Given the description of an element on the screen output the (x, y) to click on. 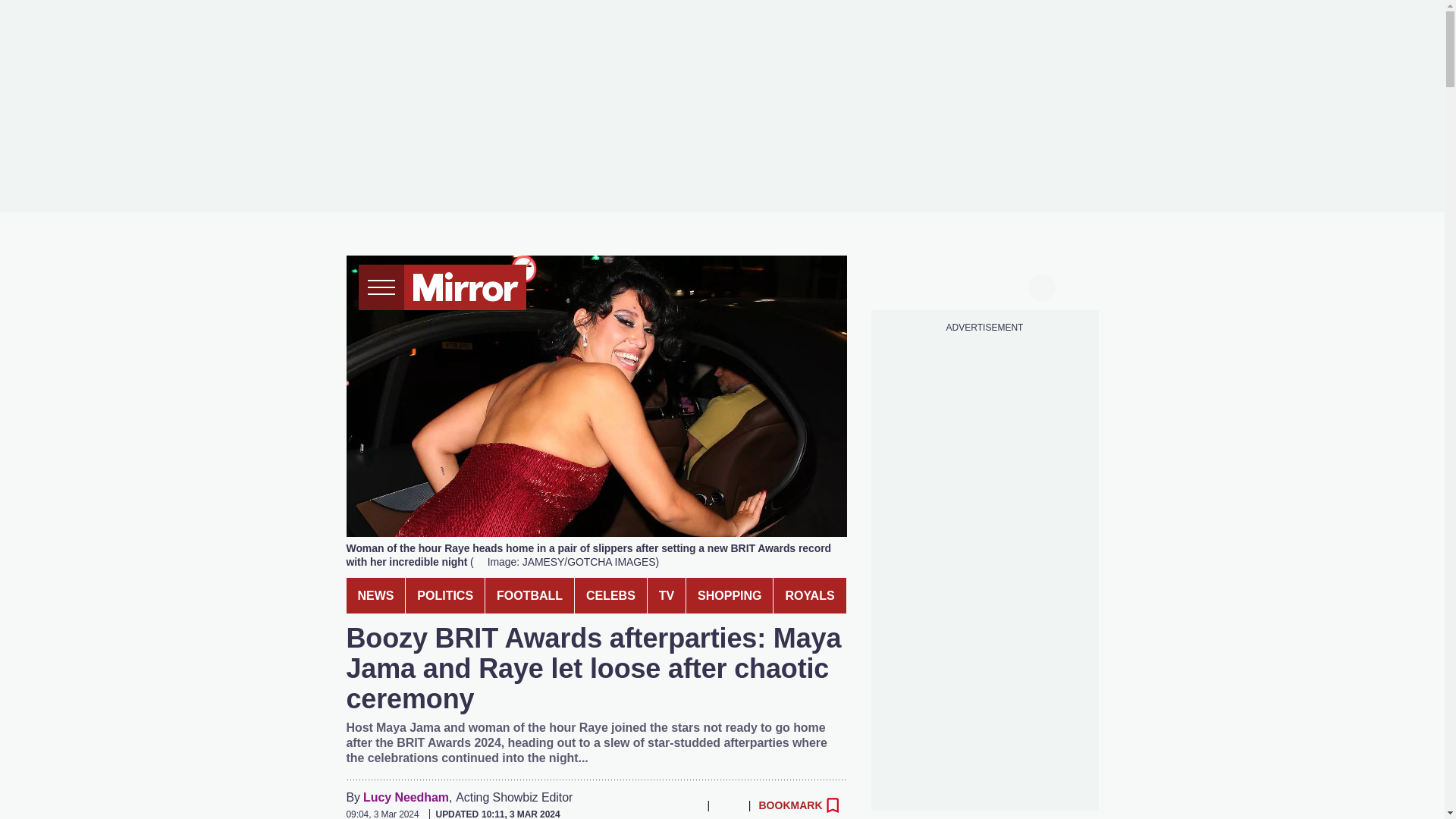
Facebook (596, 804)
twitter (926, 285)
snapchat (1012, 285)
tiktok (955, 285)
Twitter (627, 804)
POLITICS (445, 595)
instagram (984, 285)
NEWS (375, 595)
facebook (897, 285)
FOOTBALL (528, 595)
CELEBS (610, 595)
